Given the description of an element on the screen output the (x, y) to click on. 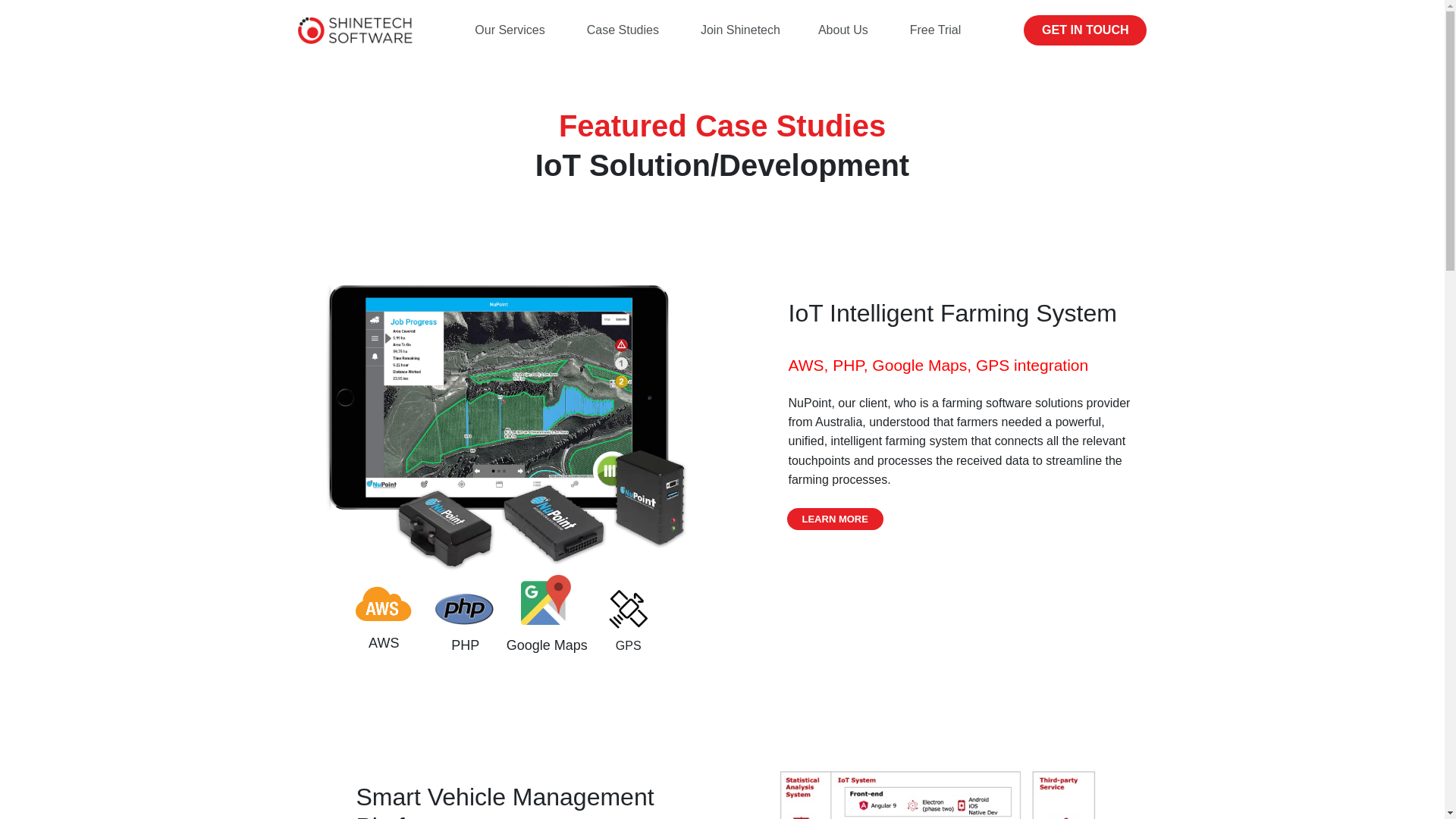
Free Trial (935, 30)
Join Shinetech (740, 30)
GET IN TOUCH (1085, 30)
LEARN MORE (835, 518)
